Given the description of an element on the screen output the (x, y) to click on. 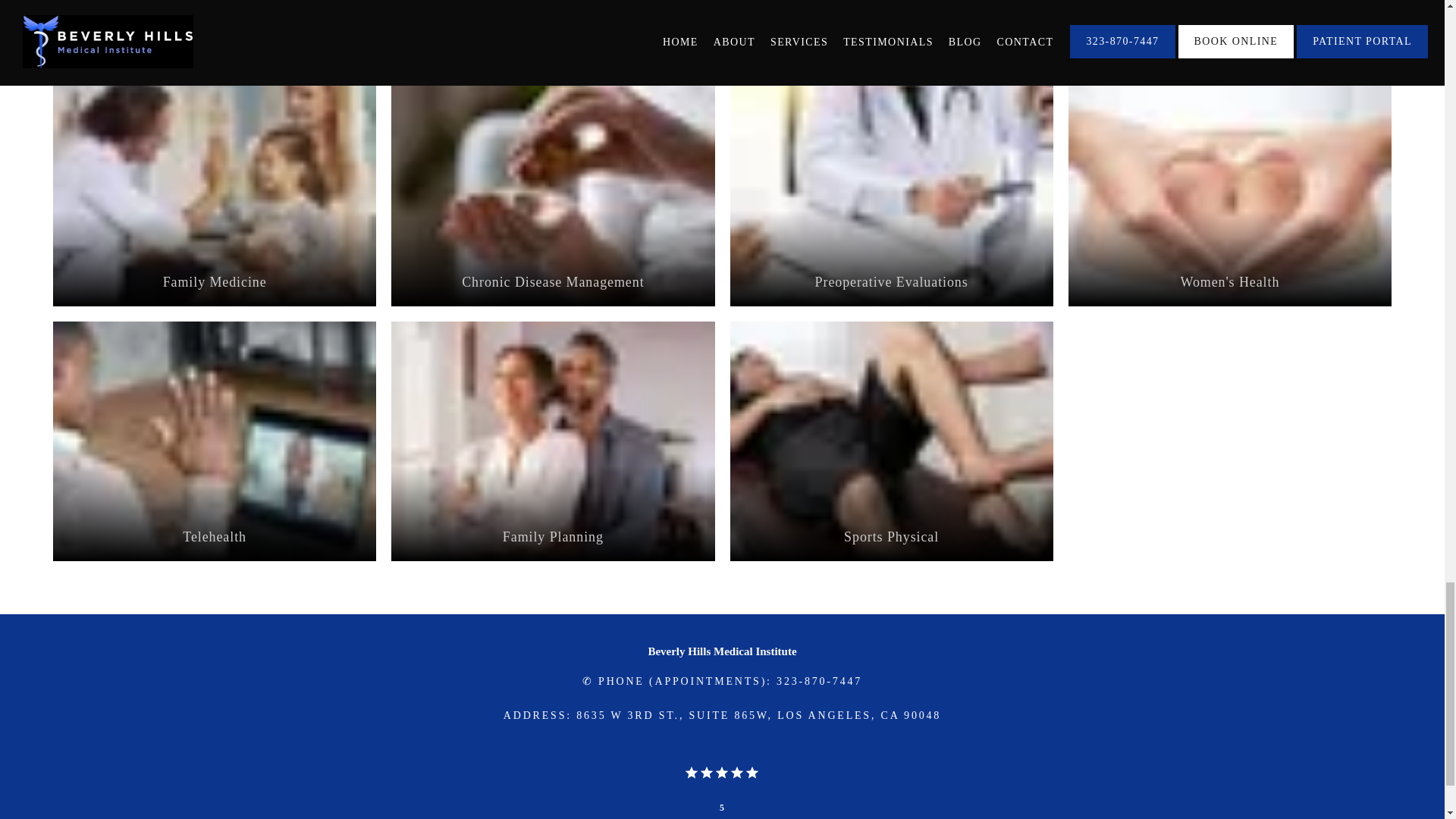
Sports Physical (891, 537)
Women's Health (1230, 282)
Chronic Disease Management (552, 282)
Family Planning (552, 537)
Telehealth (213, 537)
Preoperative Evaluations (891, 282)
Family Medicine (213, 282)
